Given the description of an element on the screen output the (x, y) to click on. 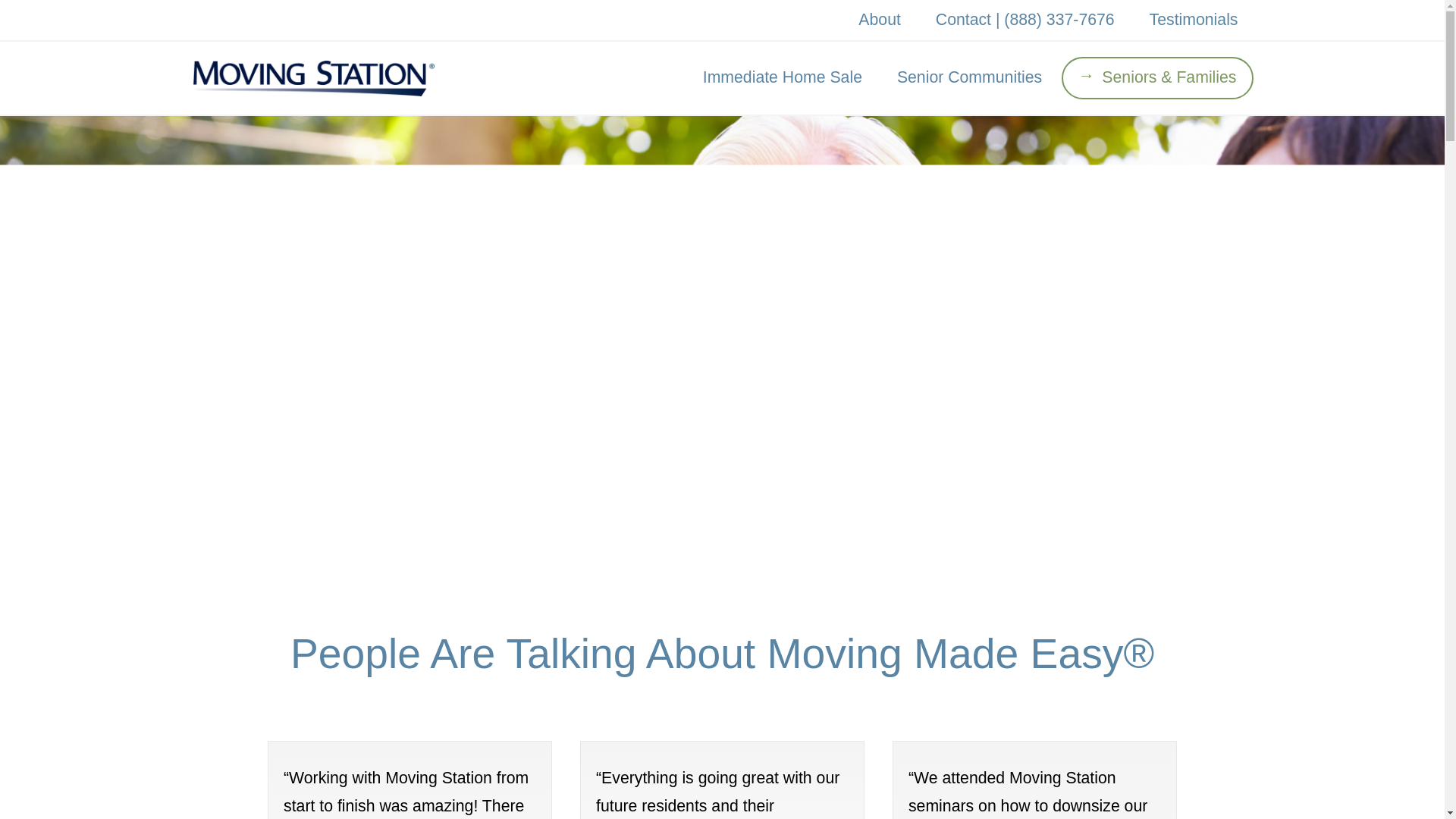
Testimonials (1193, 20)
Moving Station (311, 72)
About (879, 20)
Senior Communities (969, 77)
Immediate Home Sale (782, 77)
